Given the description of an element on the screen output the (x, y) to click on. 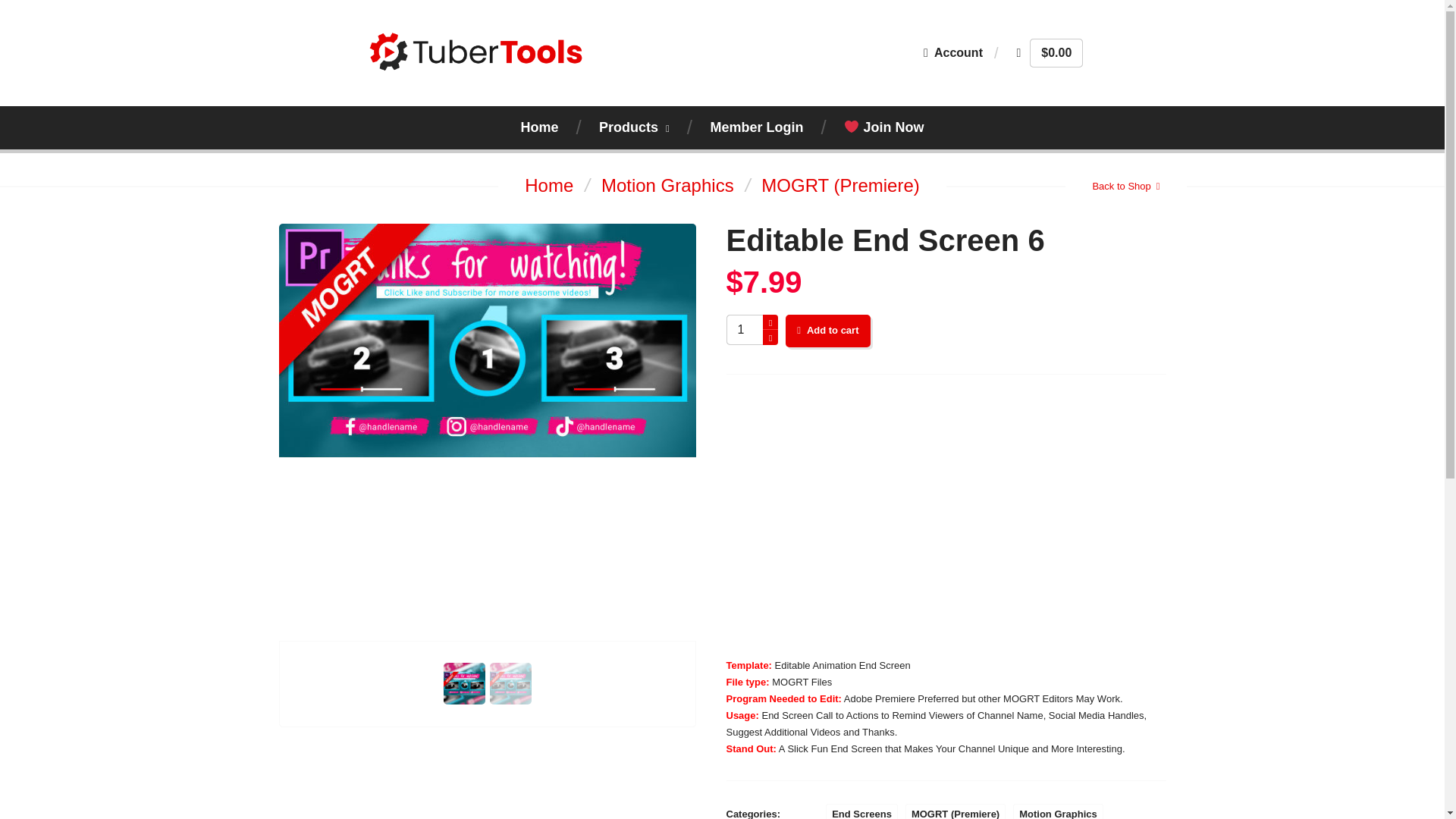
Member Login (756, 127)
Motion Graphics (1058, 811)
Add to cart (827, 330)
Products (633, 127)
Member Login (756, 127)
Qty (751, 329)
Home (538, 127)
Join Now (884, 127)
Products (633, 127)
Back to Shop (1125, 186)
End Screens (861, 811)
Account (952, 51)
Motion Graphics (667, 185)
1 (751, 329)
editable end screen 5 (946, 516)
